Given the description of an element on the screen output the (x, y) to click on. 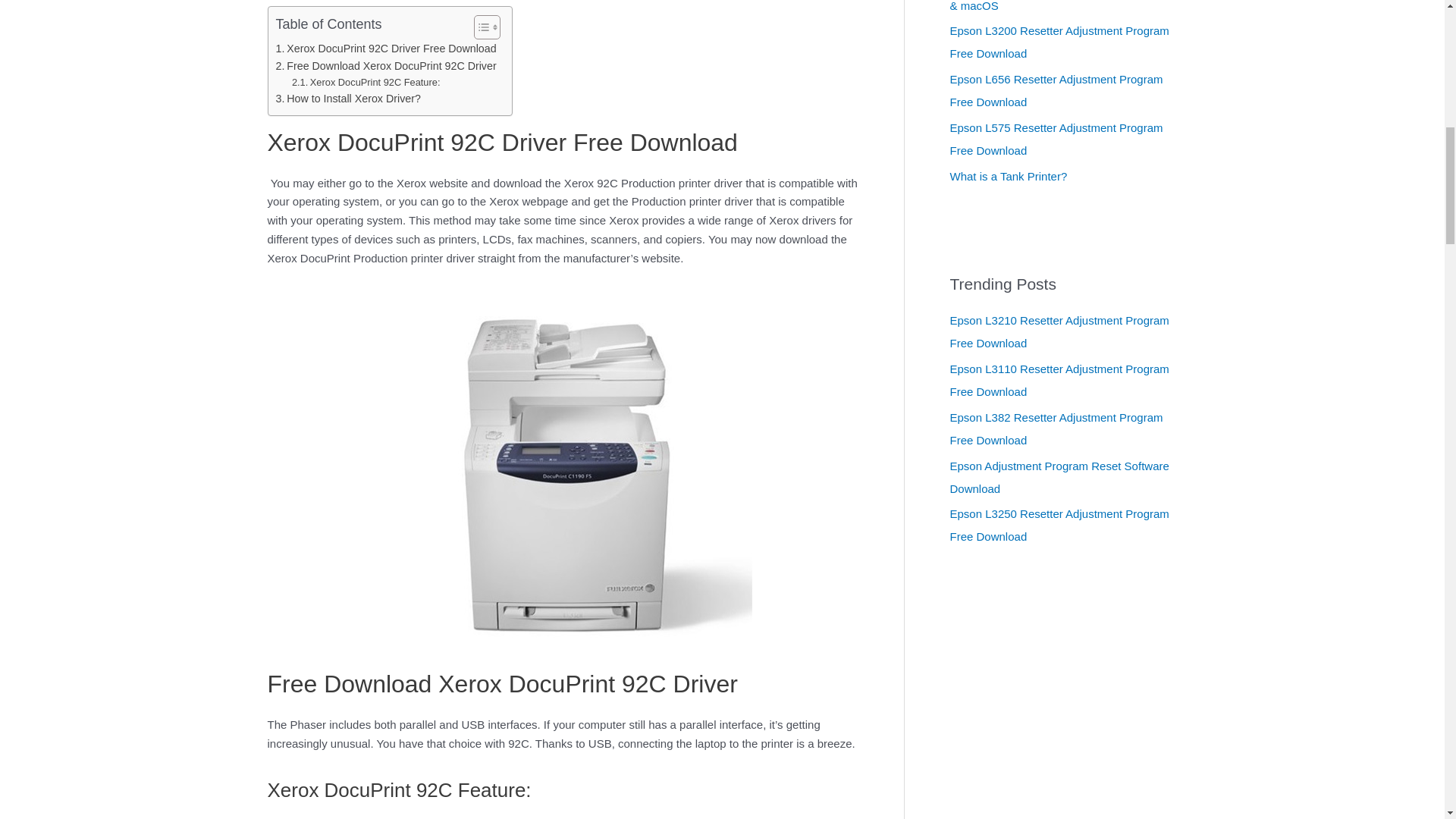
Xerox DocuPrint 92C Driver Free Download (386, 48)
Free Download Xerox DocuPrint 92C Driver (386, 66)
Xerox DocuPrint 92C Feature: (366, 82)
